Given the description of an element on the screen output the (x, y) to click on. 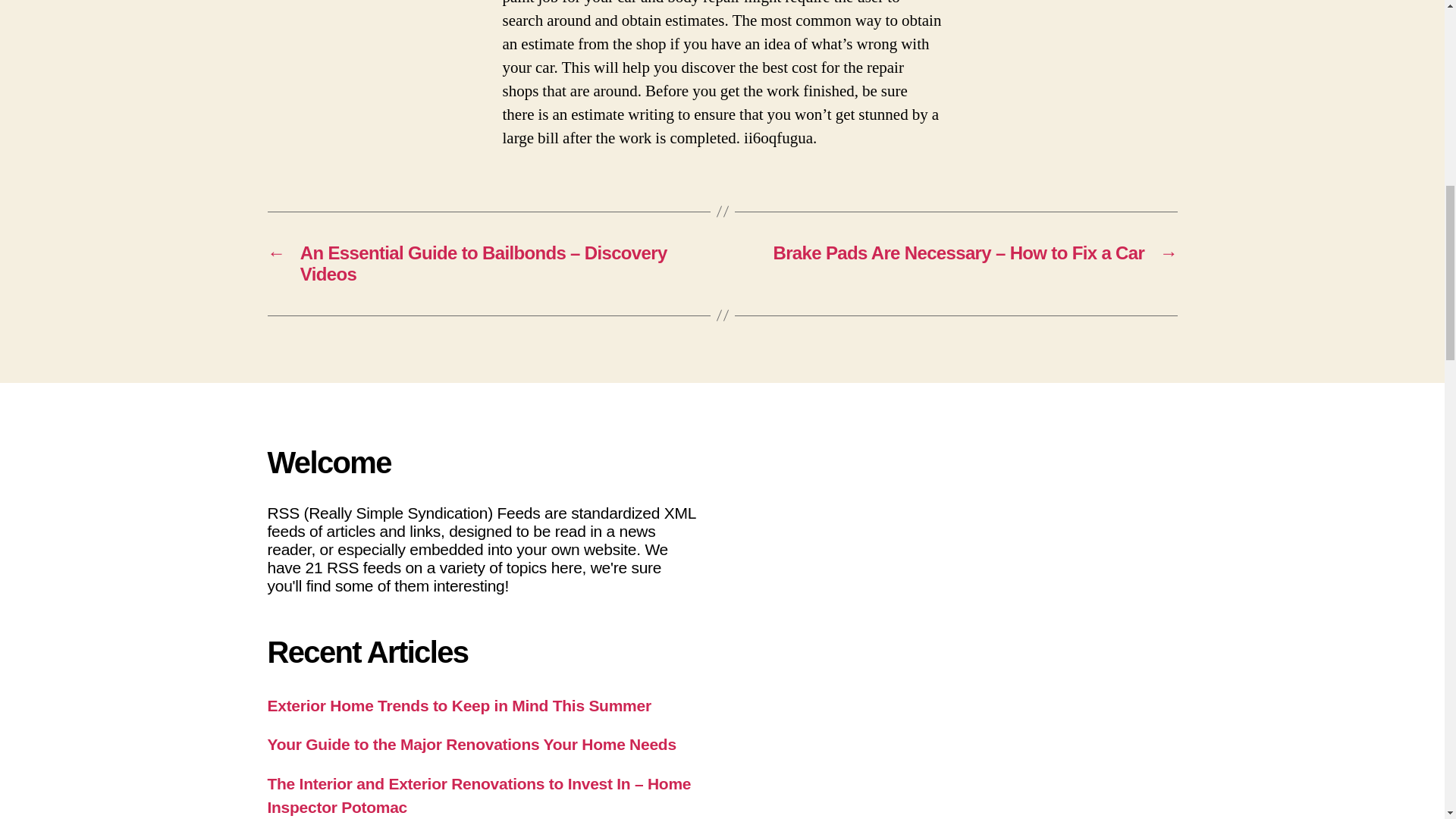
Your Guide to the Major Renovations Your Home Needs (470, 743)
Exterior Home Trends to Keep in Mind This Summer (458, 705)
